Given the description of an element on the screen output the (x, y) to click on. 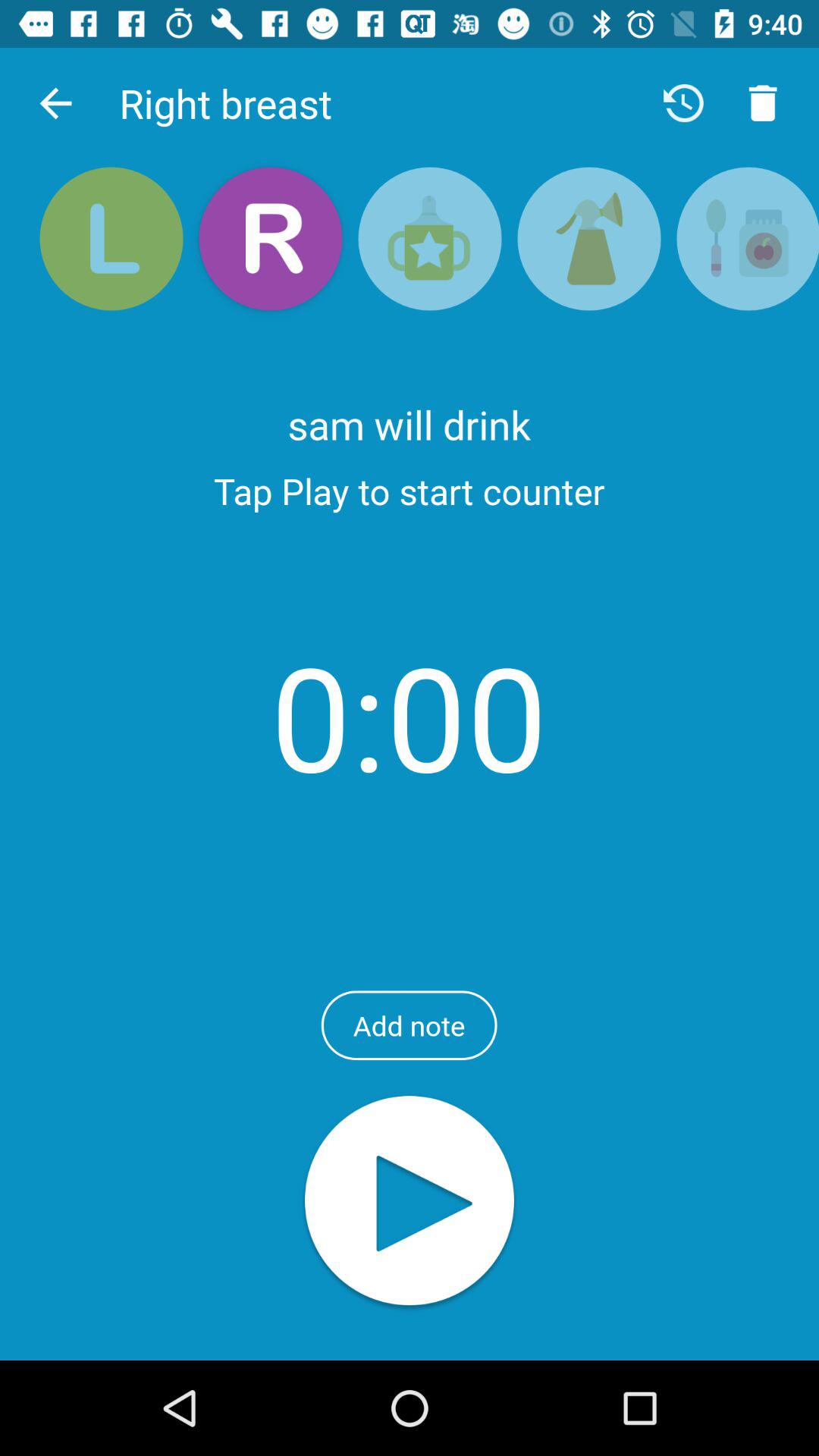
play the audio (409, 1202)
